Given the description of an element on the screen output the (x, y) to click on. 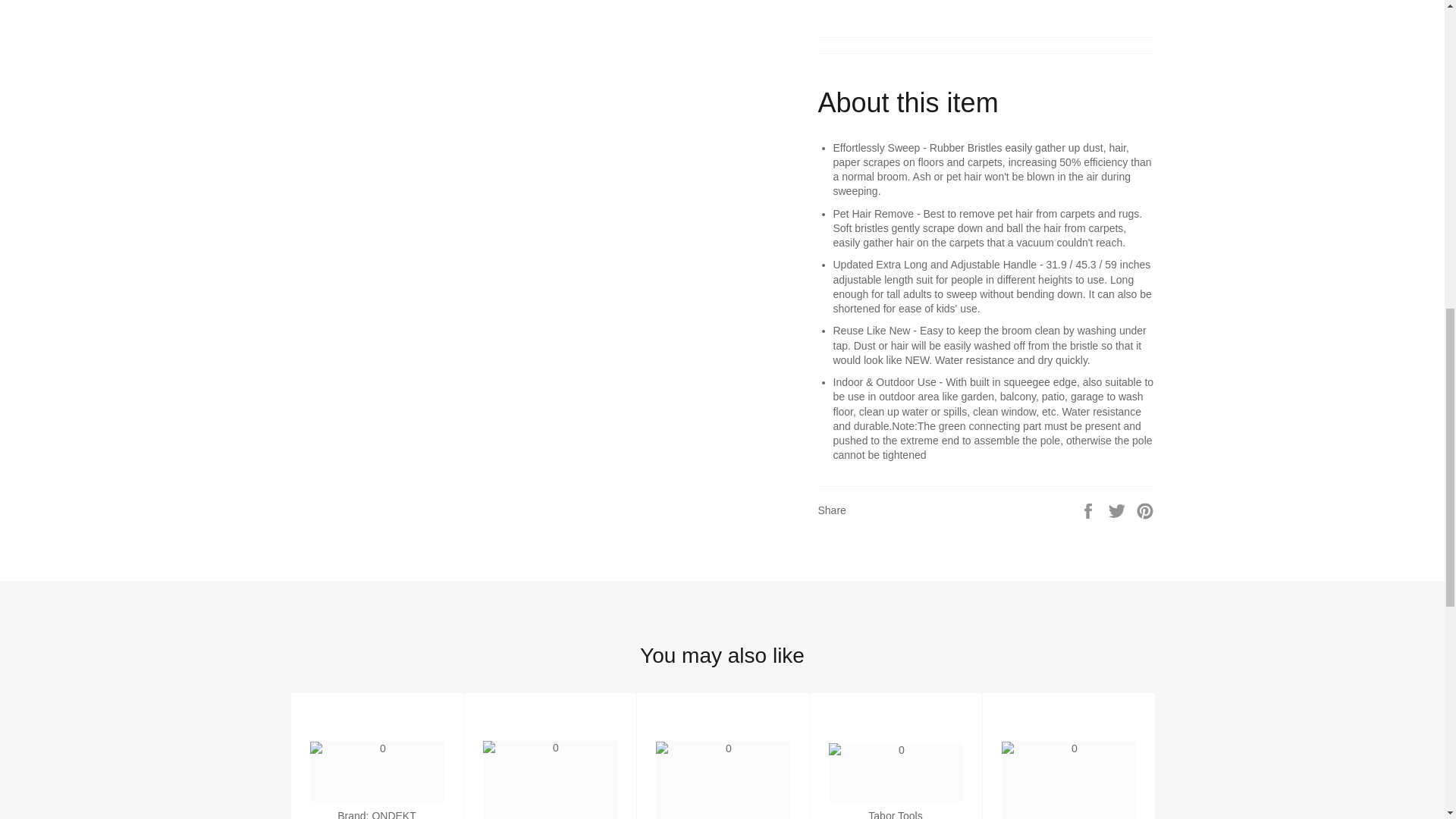
Pin on Pinterest (1144, 509)
Tweet on Twitter (1118, 509)
Share on Facebook (1089, 509)
